Given the description of an element on the screen output the (x, y) to click on. 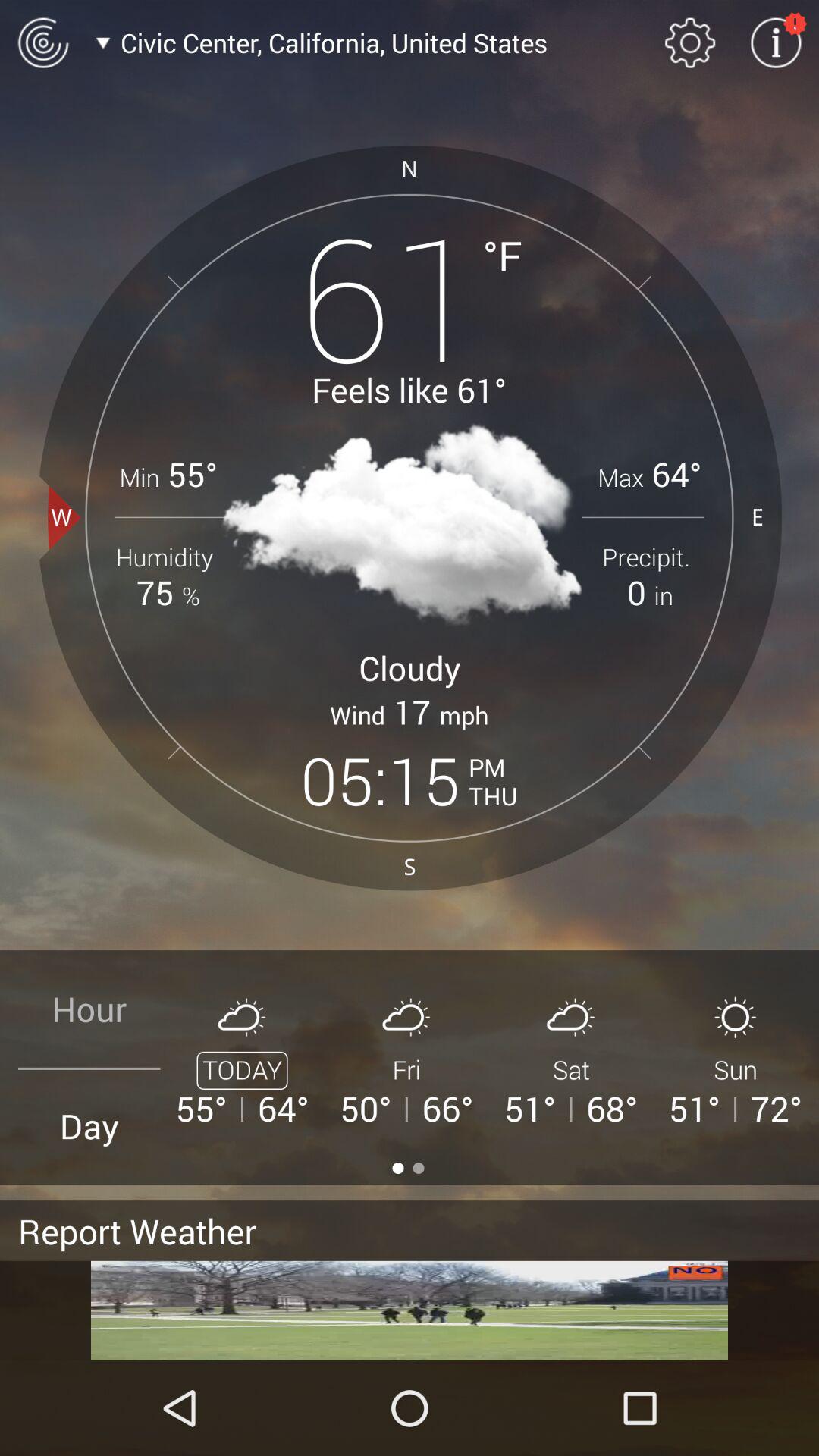
screen page (409, 1310)
